Given the description of an element on the screen output the (x, y) to click on. 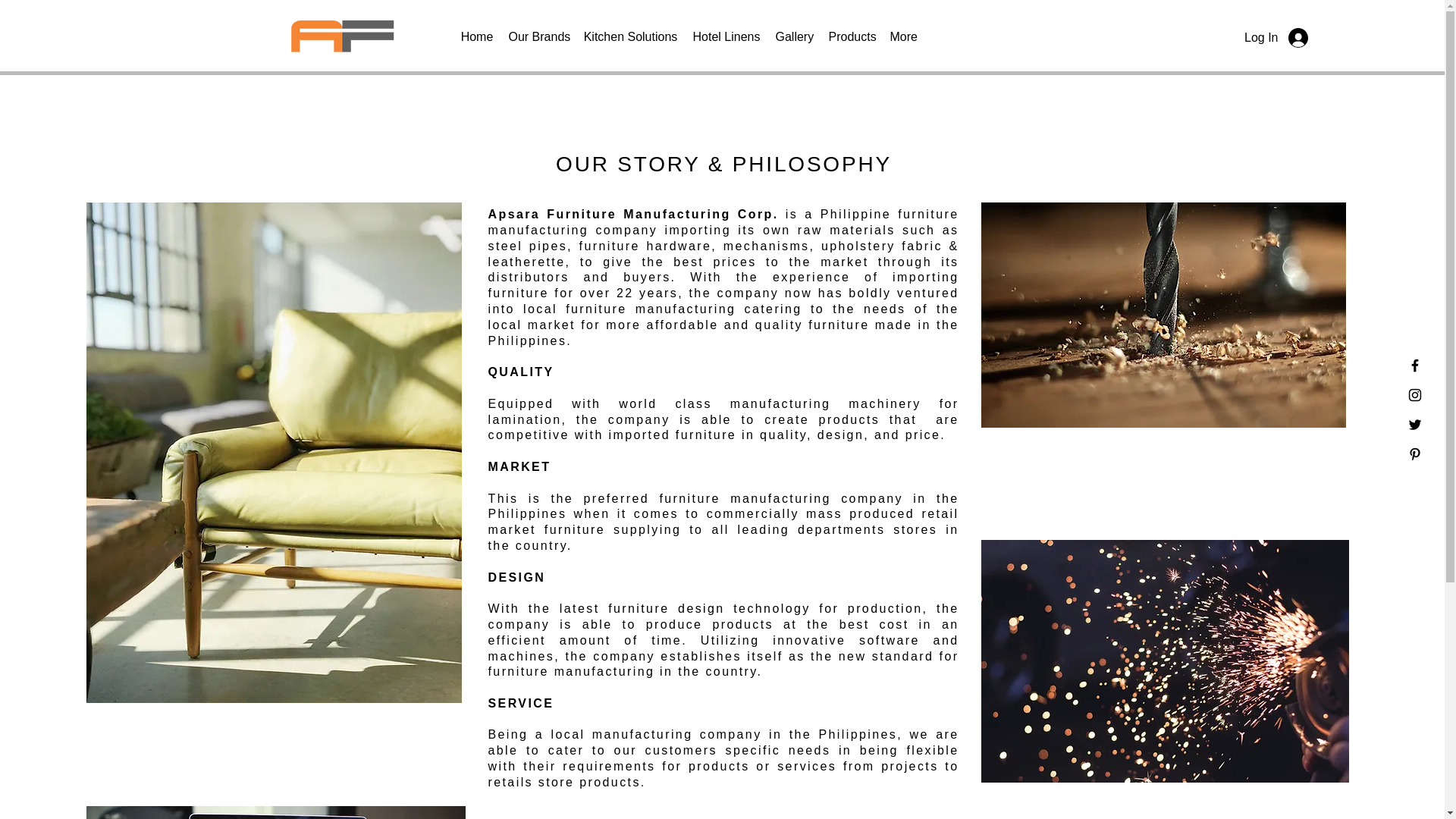
Kitchen Solutions (630, 37)
Gallery (794, 37)
Products (851, 37)
Home (476, 37)
Hotel Linens (726, 37)
Log In (1276, 37)
Our Brands (537, 37)
